Given the description of an element on the screen output the (x, y) to click on. 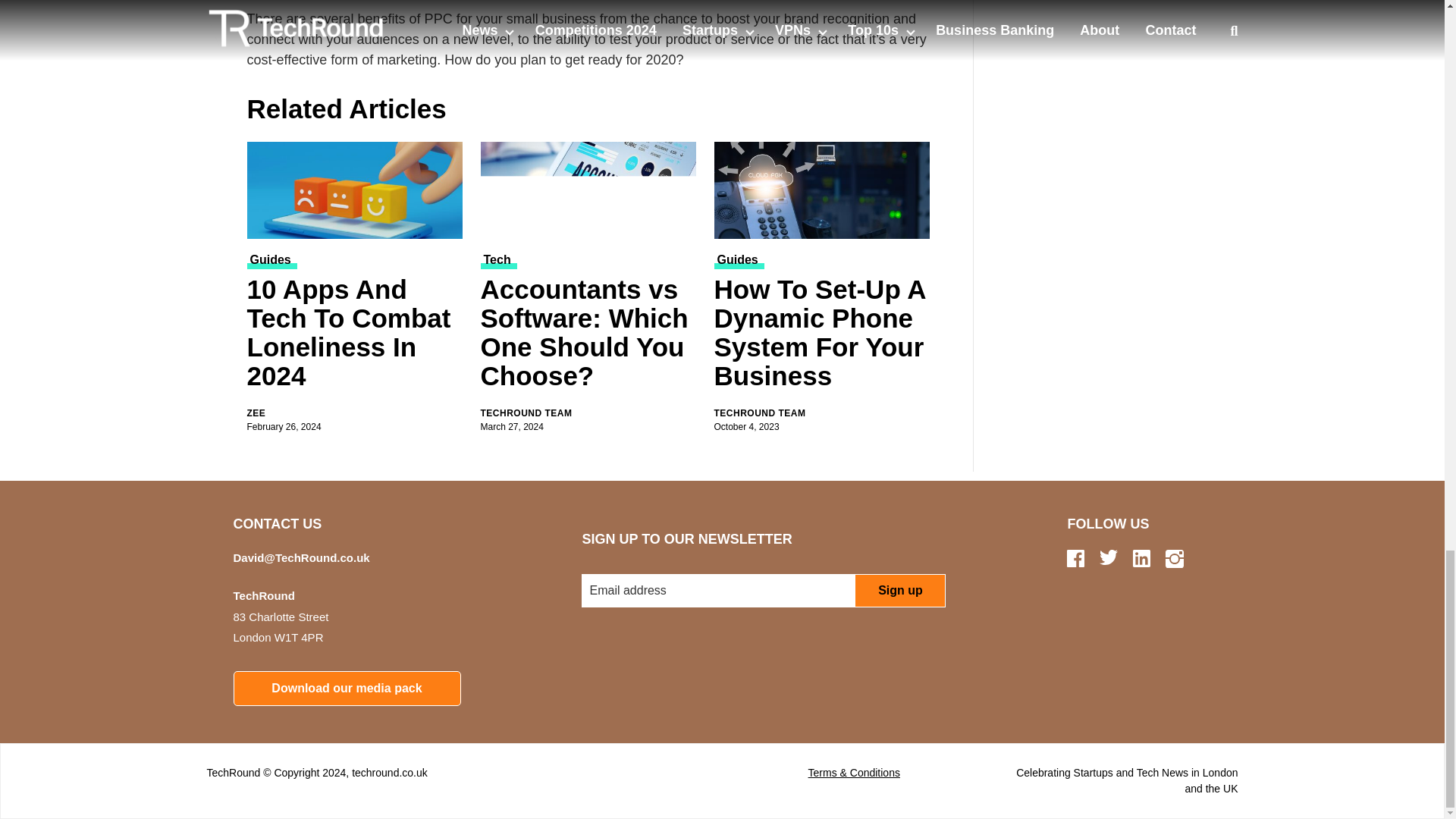
Accountants vs Software: Which One Should You Choose? (587, 190)
How To Set-Up A Dynamic Phone System For Your Business (822, 190)
Sign up (899, 590)
10 Apps And Tech To Combat Loneliness In 2024 (355, 190)
10 Apps And Tech To Combat Loneliness In 2024 (355, 335)
Accountants vs Software: Which One Should You Choose? (587, 335)
How To Set-Up A Dynamic Phone System For Your Business (822, 335)
